Given the description of an element on the screen output the (x, y) to click on. 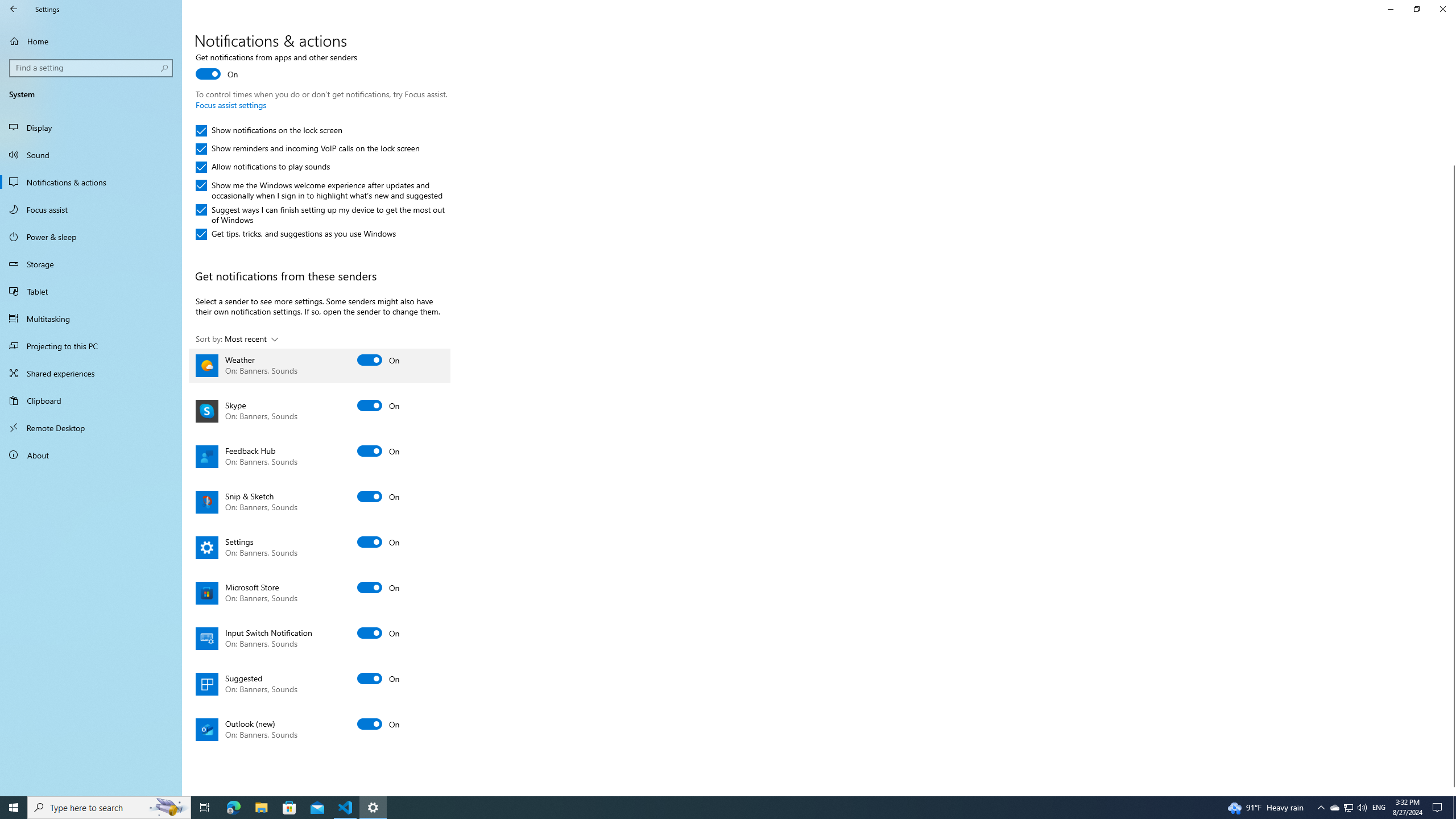
Show desktop (1454, 807)
Vertical Small Decrease (1451, 58)
Multitasking (91, 318)
Action Center, No new notifications (1439, 807)
Outlook (new) (319, 729)
Type here to search (108, 807)
Settings (1347, 807)
Restore Settings (319, 547)
Feedback Hub (1416, 9)
Minimize Settings (319, 456)
Vertical Large Decrease (1390, 9)
Give feedback (1451, 114)
Search box, Find a setting (1348, 23)
